Given the description of an element on the screen output the (x, y) to click on. 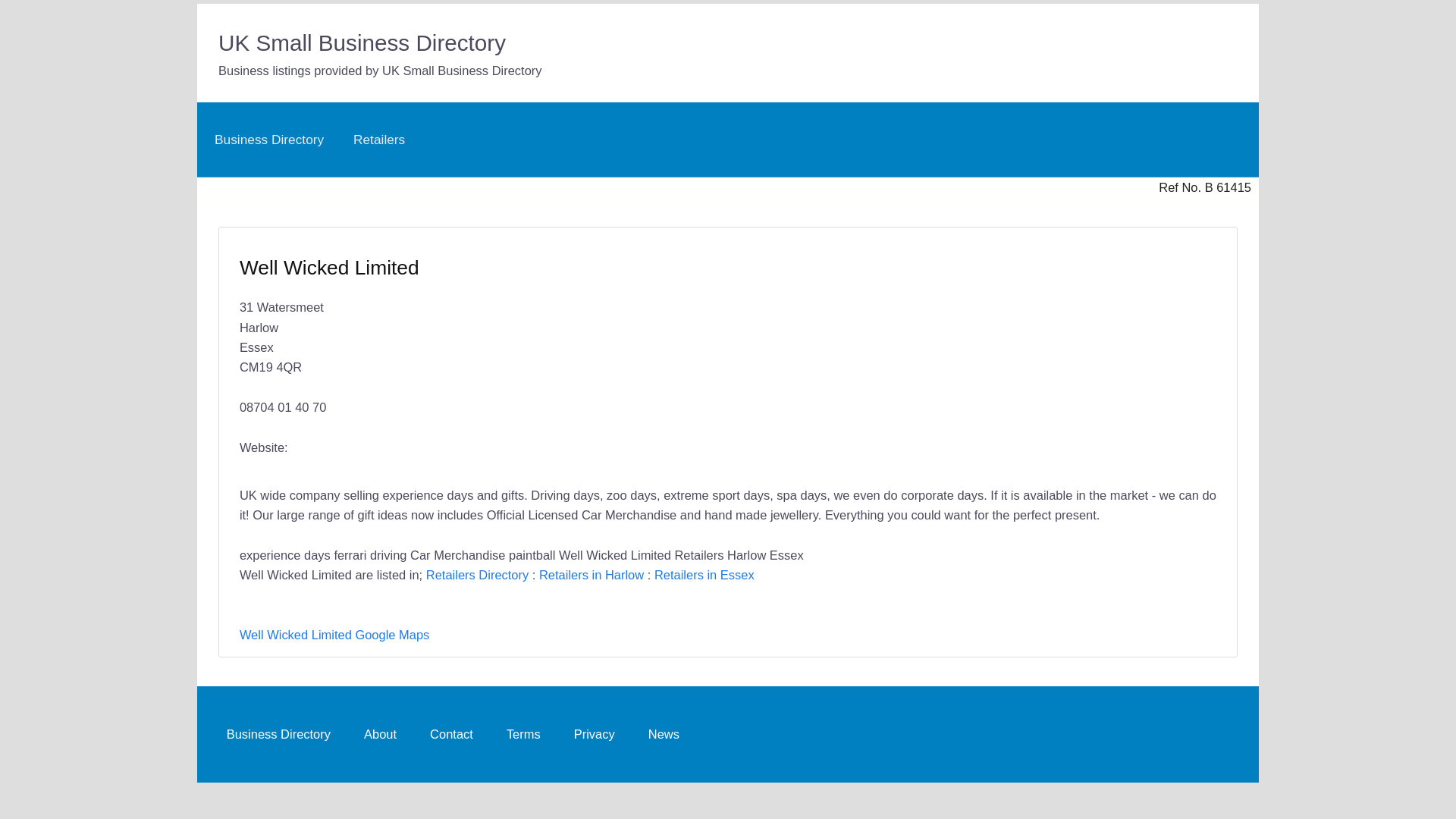
Retailers Directory (477, 574)
Business Directory (277, 733)
Terms (523, 733)
Advertisement (964, 345)
Privacy (593, 733)
Retailers (378, 139)
Retailers in Essex (703, 574)
Well Wicked Limited Google Maps (334, 634)
Contact (451, 733)
Retailers in Harlow (590, 574)
About (379, 733)
News (663, 733)
Business Directory (269, 139)
